Given the description of an element on the screen output the (x, y) to click on. 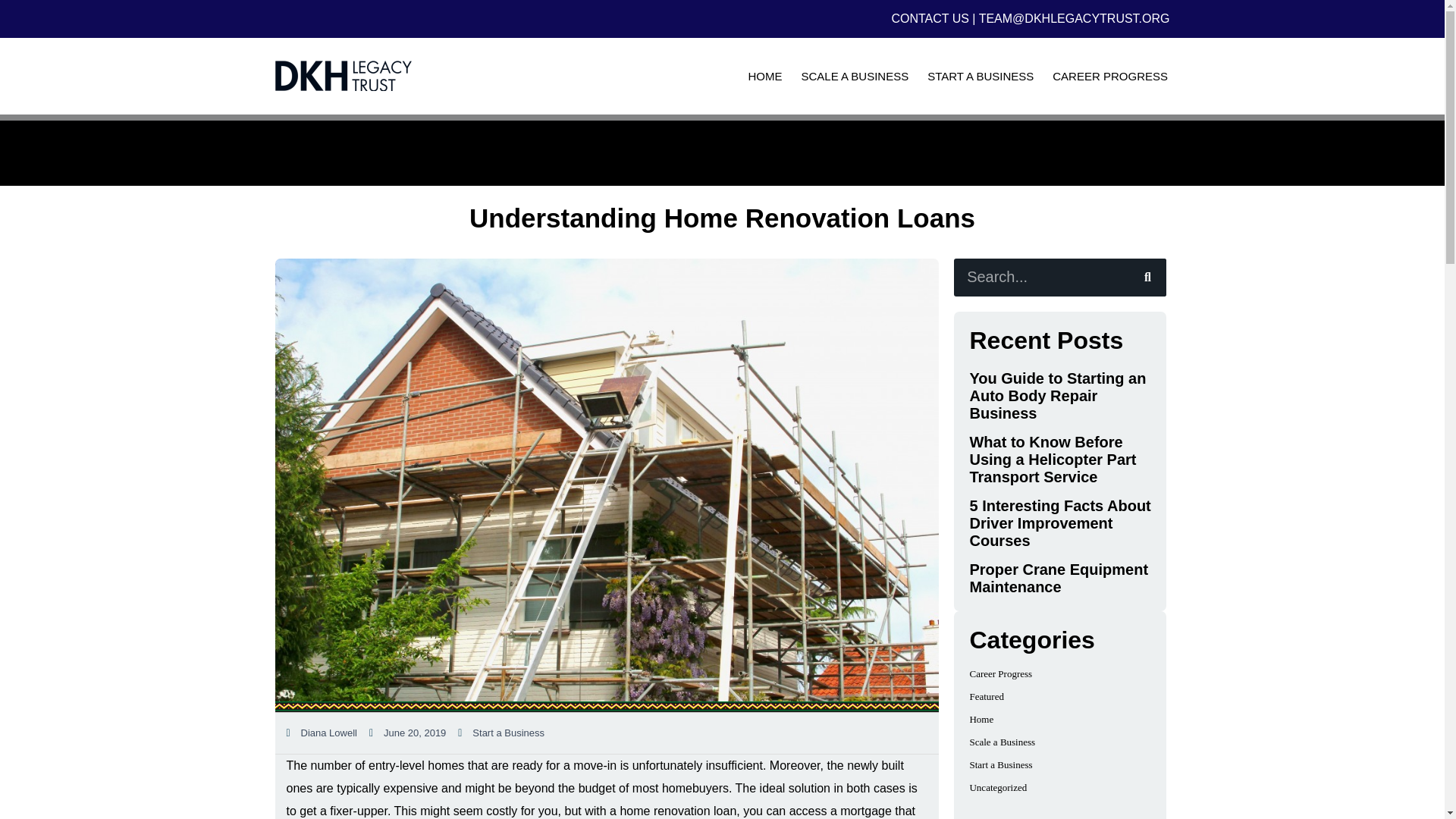
START A BUSINESS (980, 75)
DKH-LEGACY-TRUST-LOGO (342, 75)
June 20, 2019 (407, 732)
5 Interesting Facts About Driver Improvement Courses (1059, 522)
Uncategorized (997, 787)
Search (1147, 277)
HOME (765, 75)
Start a Business (1000, 764)
Scale a Business (1002, 741)
You Guide to Starting an Auto Body Repair Business (1057, 395)
Proper Crane Equipment Maintenance (1058, 578)
Diana Lowell (321, 732)
SCALE A BUSINESS (855, 75)
Home (980, 718)
CAREER PROGRESS (1110, 75)
